Given the description of an element on the screen output the (x, y) to click on. 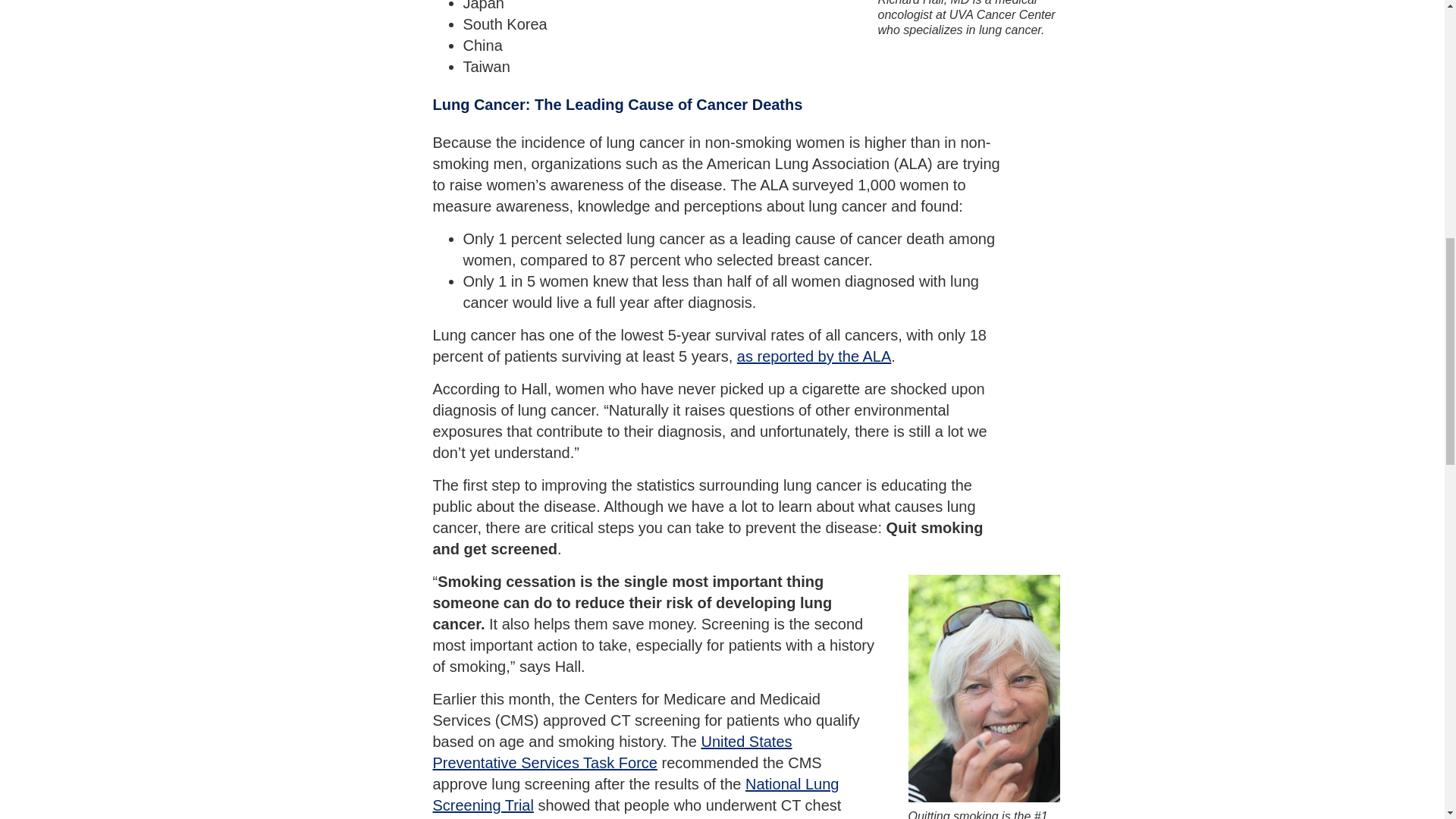
United States Preventative Services Task Force (612, 752)
National Lung Screening Trial (635, 794)
as reported by the ALA (813, 356)
